Given the description of an element on the screen output the (x, y) to click on. 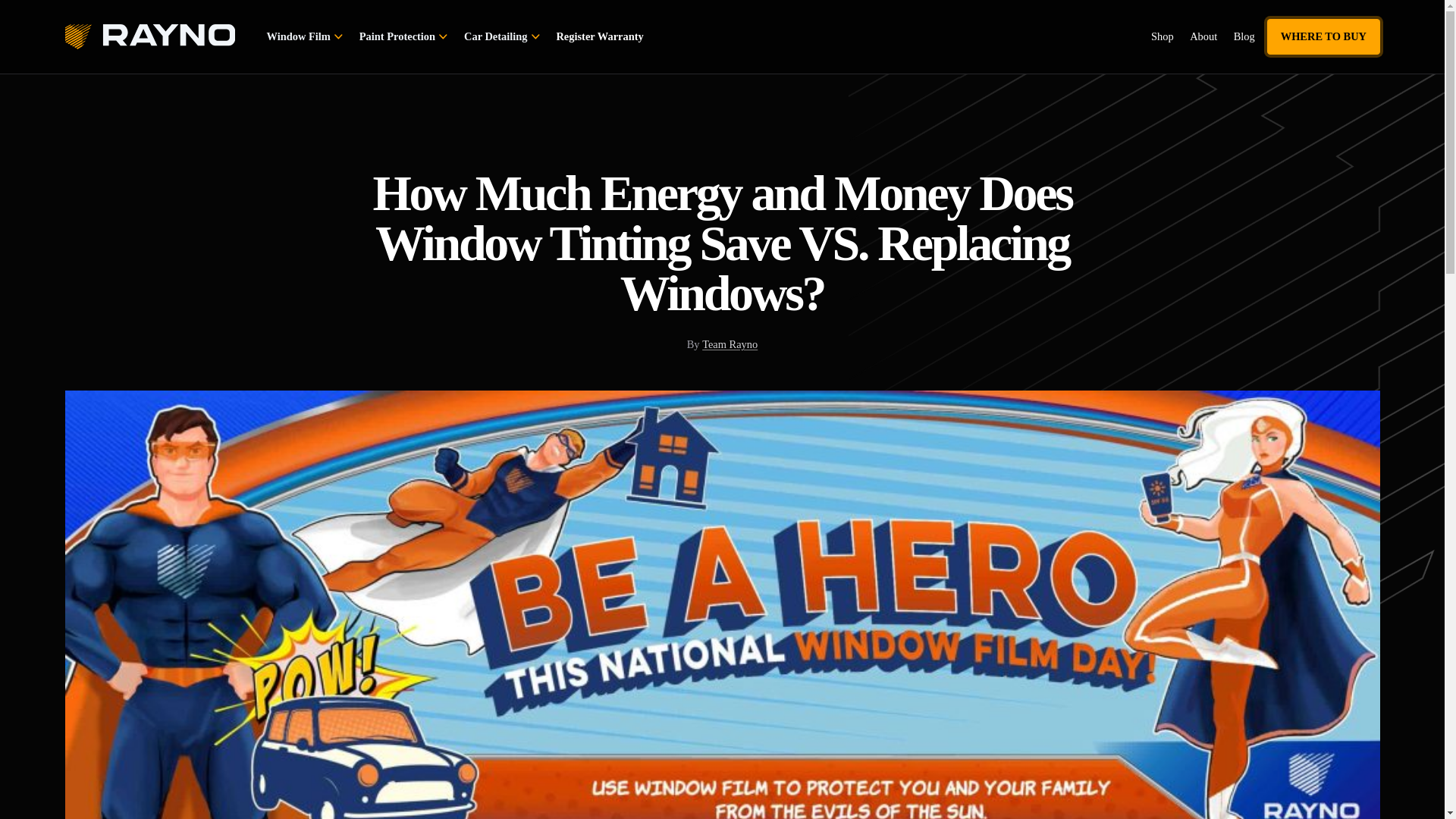
Window Film (306, 36)
Rayno Window Film (150, 36)
Car Detailing (503, 36)
Shop (1162, 36)
Blog (1244, 36)
Register Warranty (599, 35)
About (1203, 36)
WHERE TO BUY (1322, 36)
Paint Protection (405, 36)
